Given the description of an element on the screen output the (x, y) to click on. 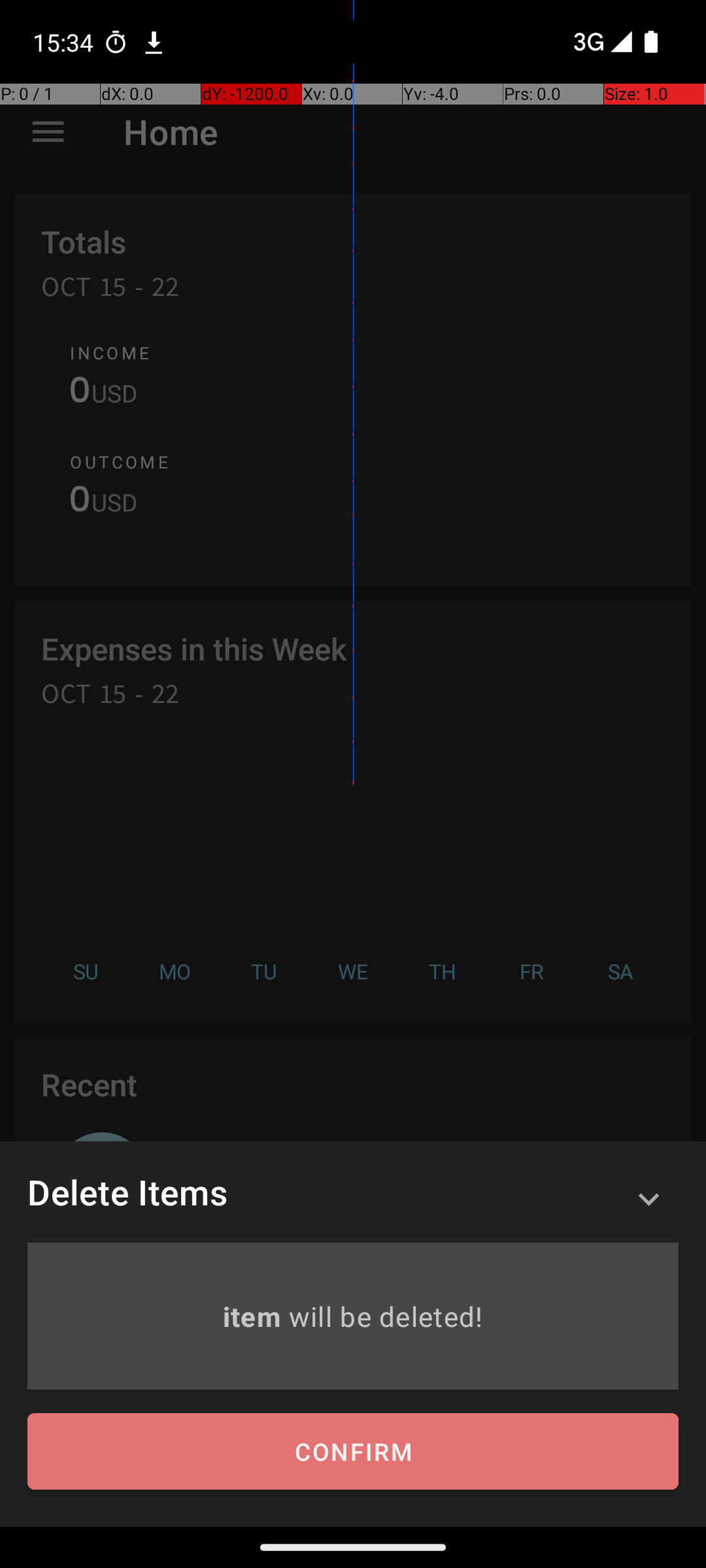
Chrome notification: m.youtube.com Element type: android.widget.ImageView (153, 41)
